Given the description of an element on the screen output the (x, y) to click on. 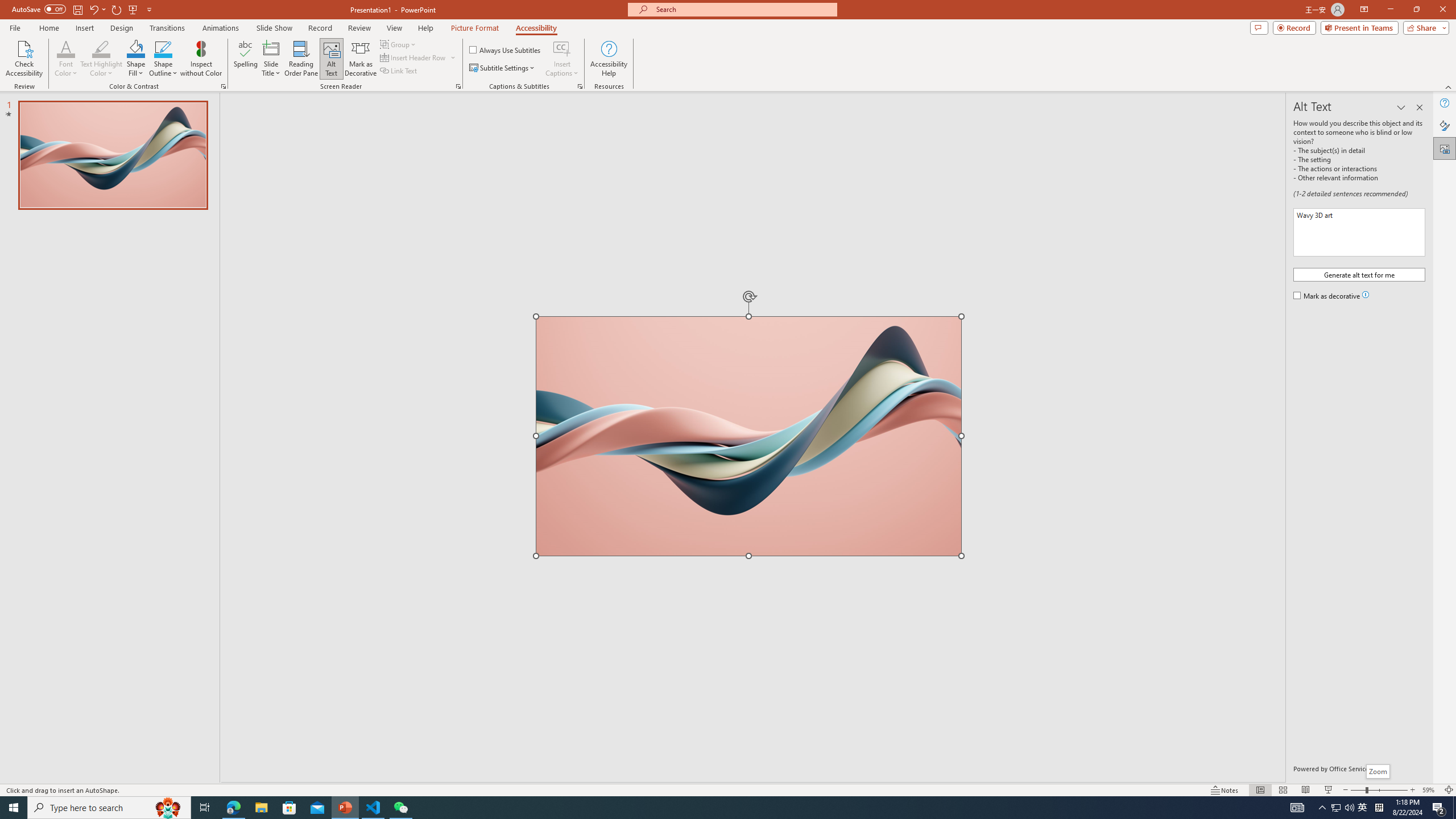
Mark as Decorative (360, 58)
Captions & Subtitles (580, 85)
Subtitle Settings (502, 67)
Format Picture (1444, 125)
Zoom 59% (1430, 790)
